Given the description of an element on the screen output the (x, y) to click on. 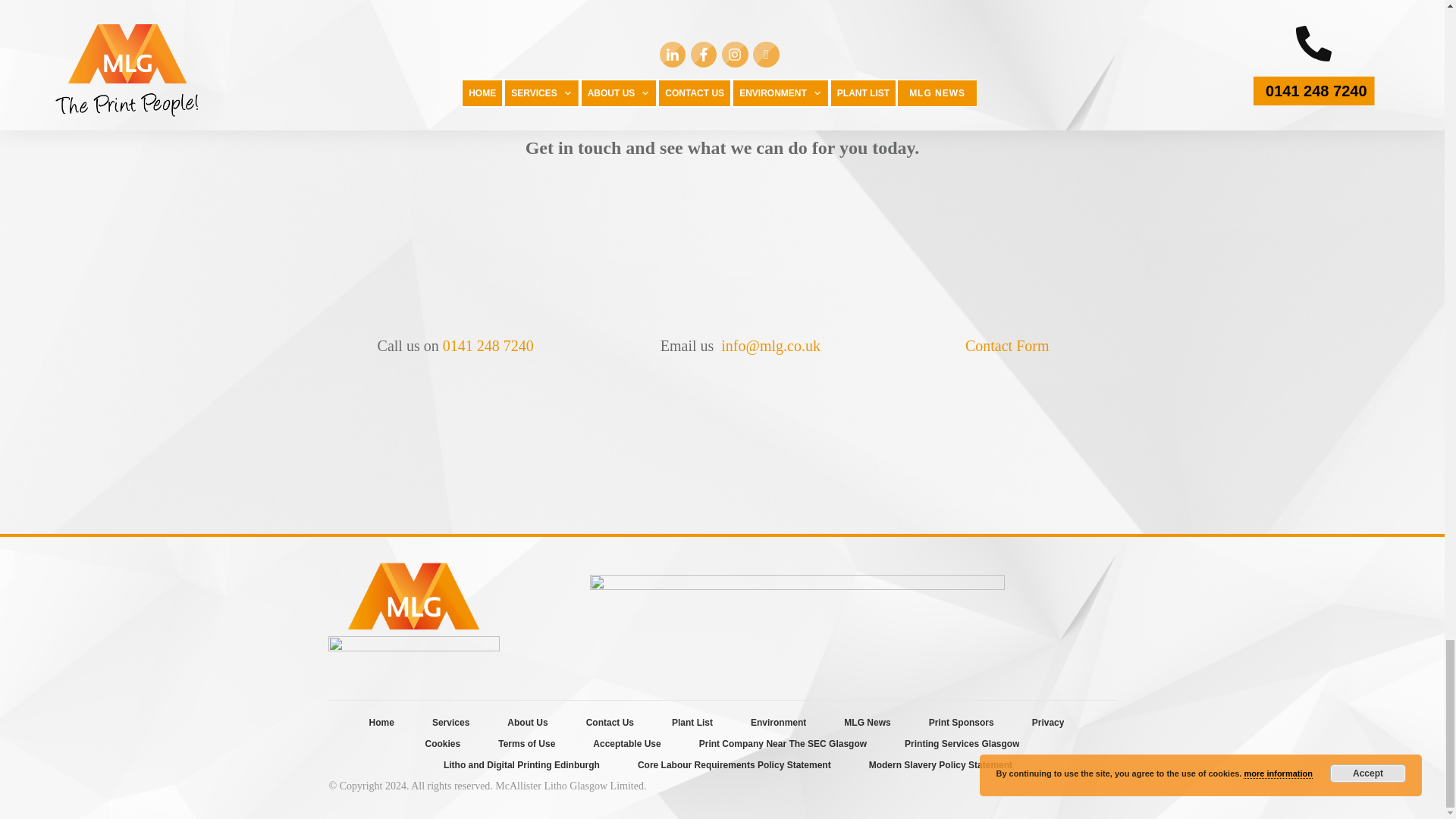
0141 248 7240 (488, 345)
Fabric Display Solutions (622, 32)
Outdoor Display Solutions (821, 32)
Retail Display Solutions (1022, 32)
the print people once 640px (413, 655)
Exhibition Display Solutions (421, 32)
all badges 2023 (796, 625)
